Given the description of an element on the screen output the (x, y) to click on. 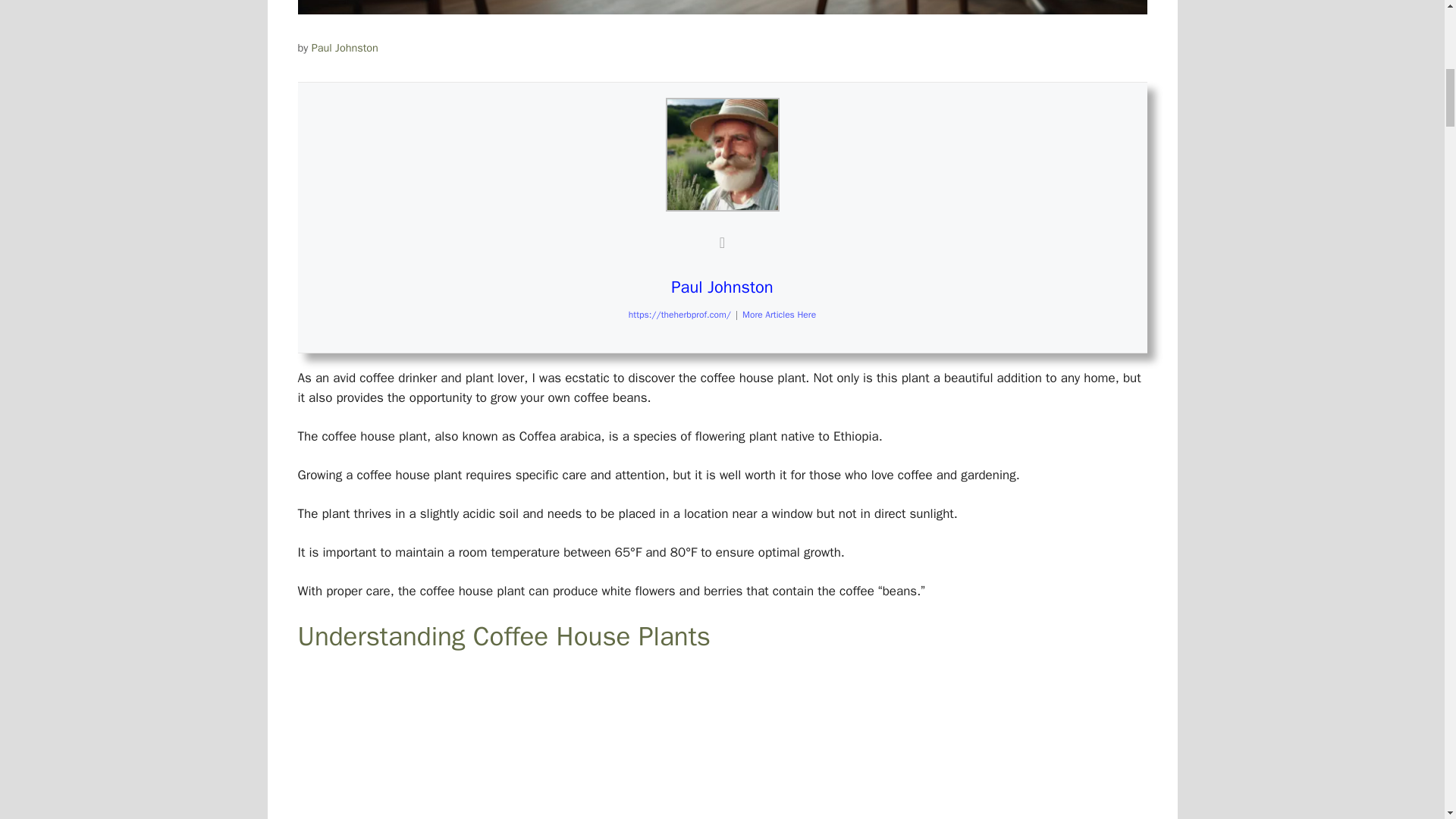
Paul Johnston (344, 47)
View all posts by Paul Johnston (344, 47)
More Articles Here (778, 314)
Paul Johnston (722, 287)
